Given the description of an element on the screen output the (x, y) to click on. 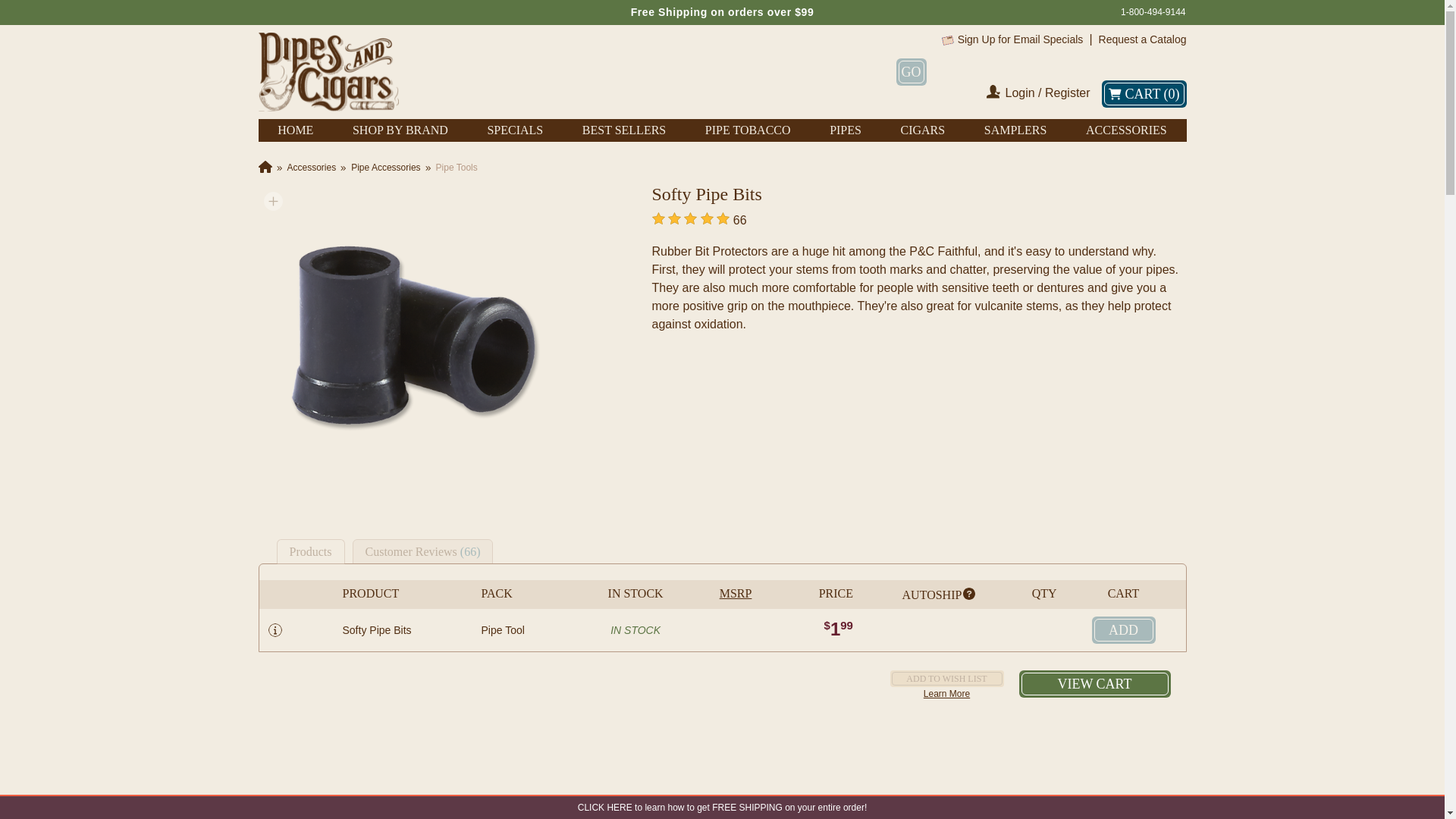
Sign Up for Email Specials (1020, 39)
Request a Catalog (1142, 39)
Quick View for Softy Pipe Bits (274, 630)
SHOP BY BRAND (400, 129)
BEST SELLERS (623, 129)
GO (911, 71)
HOME (295, 129)
1-800-494-9144 (1153, 11)
SPECIALS (514, 129)
